Given the description of an element on the screen output the (x, y) to click on. 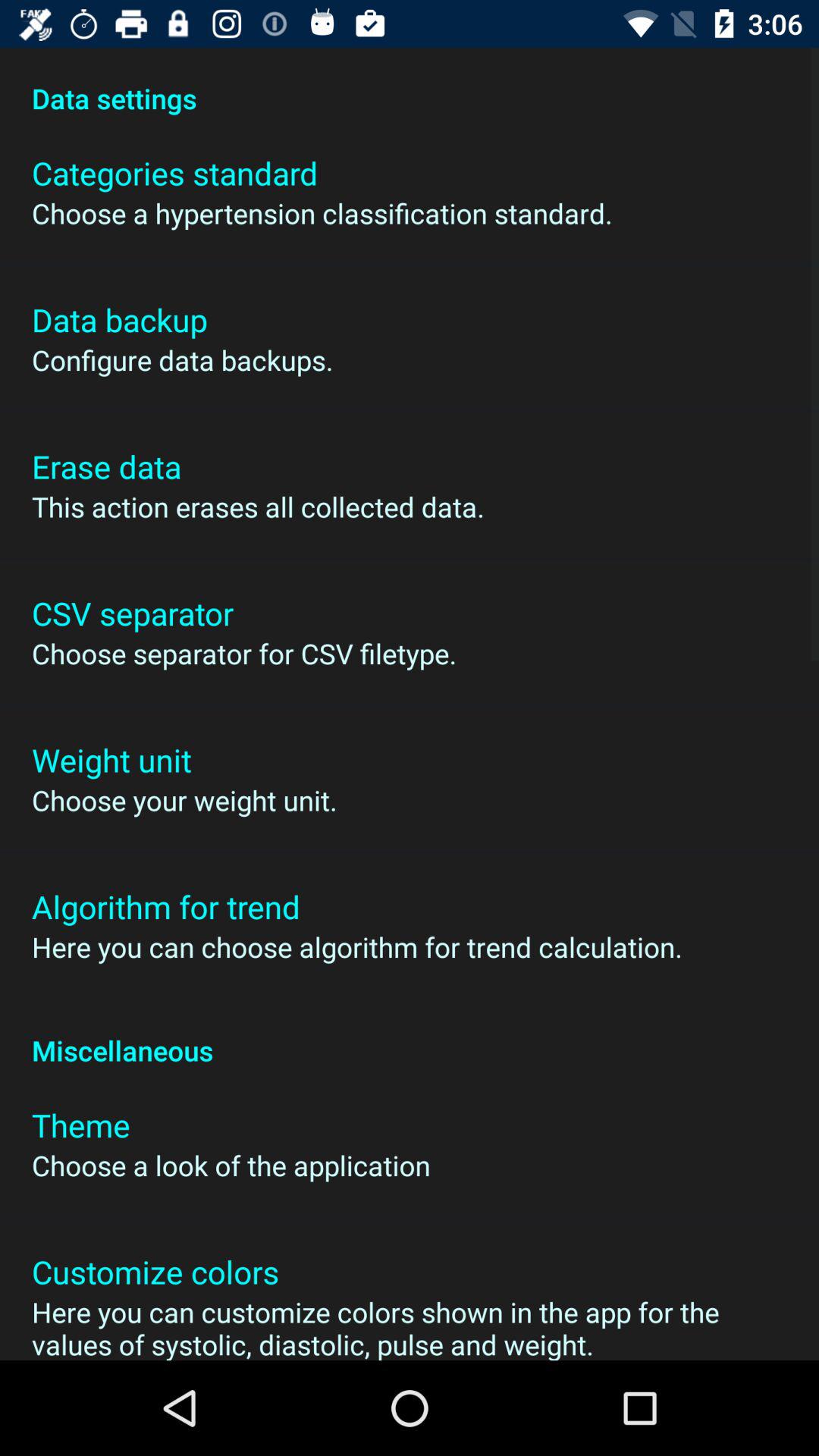
open the item below data backup item (182, 359)
